Given the description of an element on the screen output the (x, y) to click on. 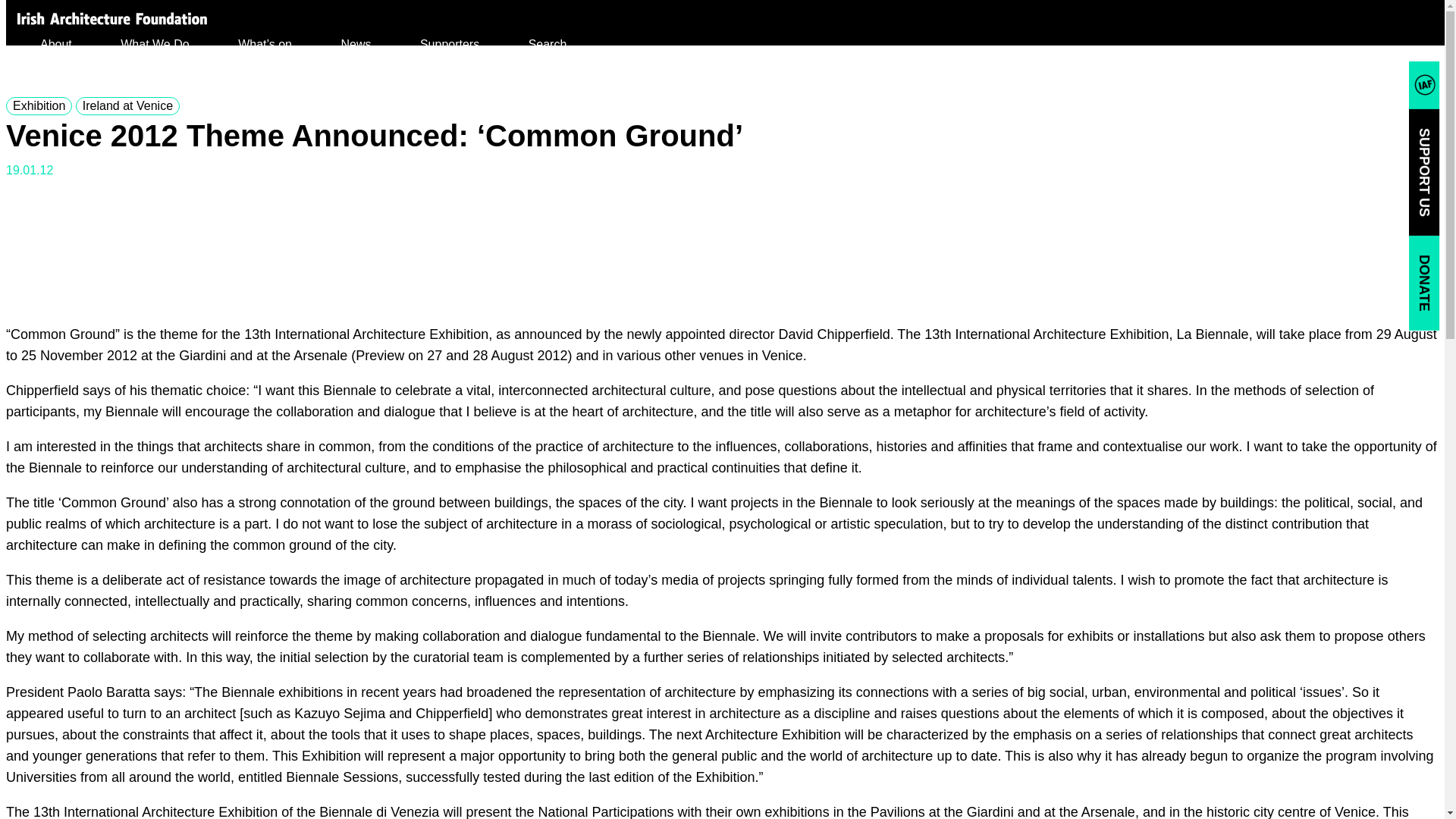
About (55, 43)
Supporters (449, 43)
What We Do (154, 43)
Home (111, 17)
News (355, 43)
Unthink Website (67, 811)
Search... (554, 43)
